Given the description of an element on the screen output the (x, y) to click on. 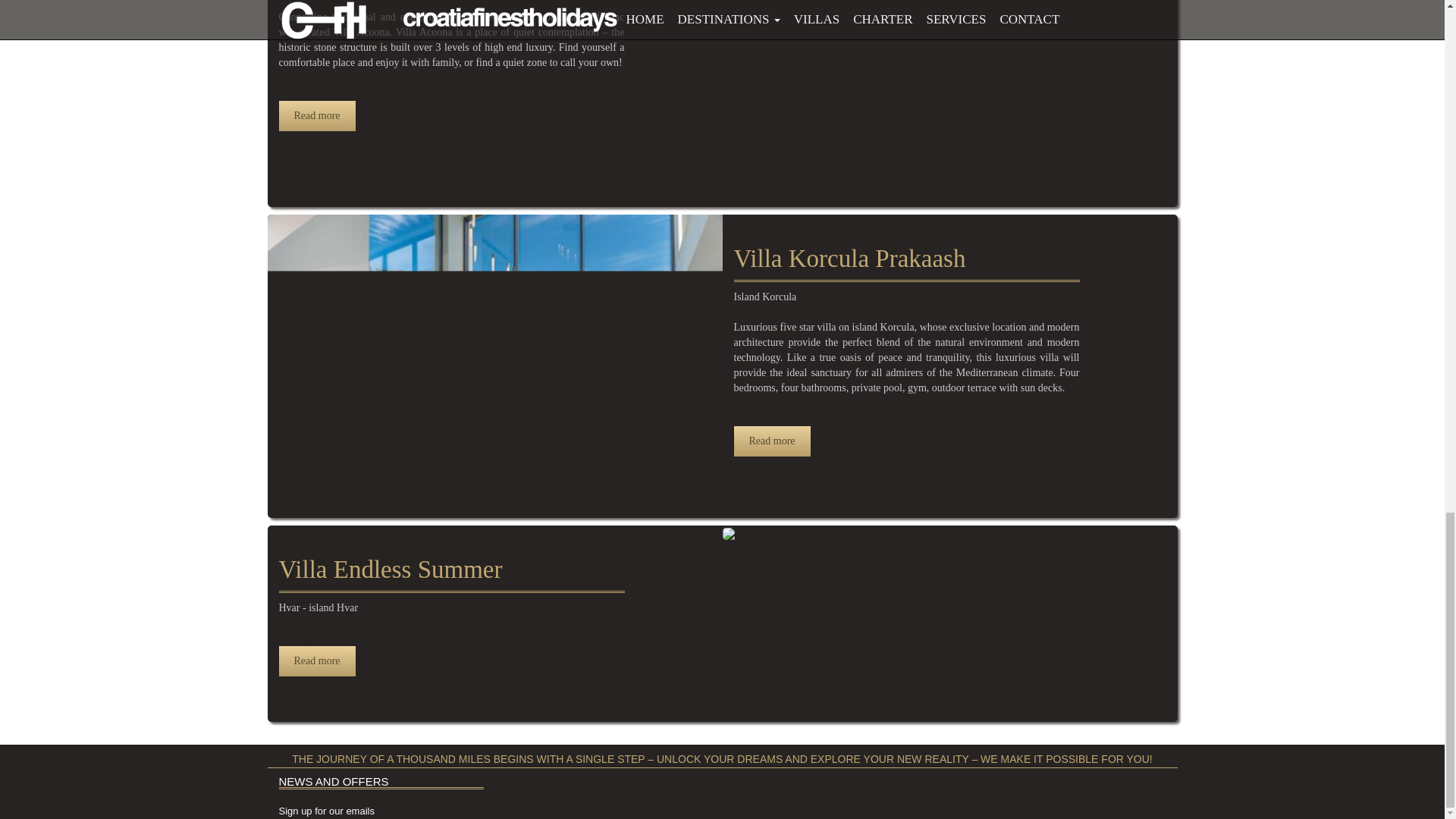
Read more (317, 661)
Read more (317, 115)
Read more (771, 440)
